Given the description of an element on the screen output the (x, y) to click on. 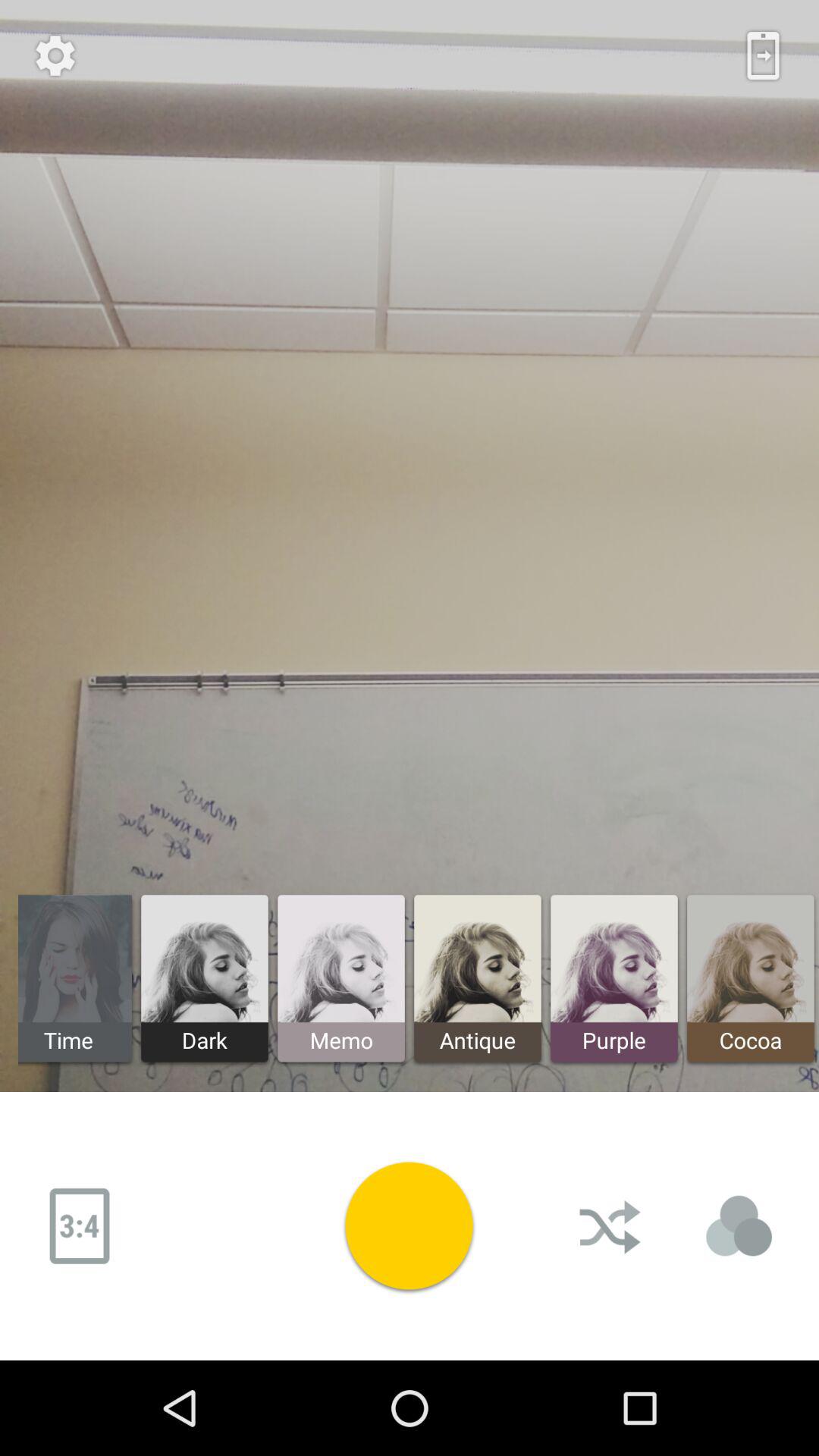
take photo (408, 1225)
